Given the description of an element on the screen output the (x, y) to click on. 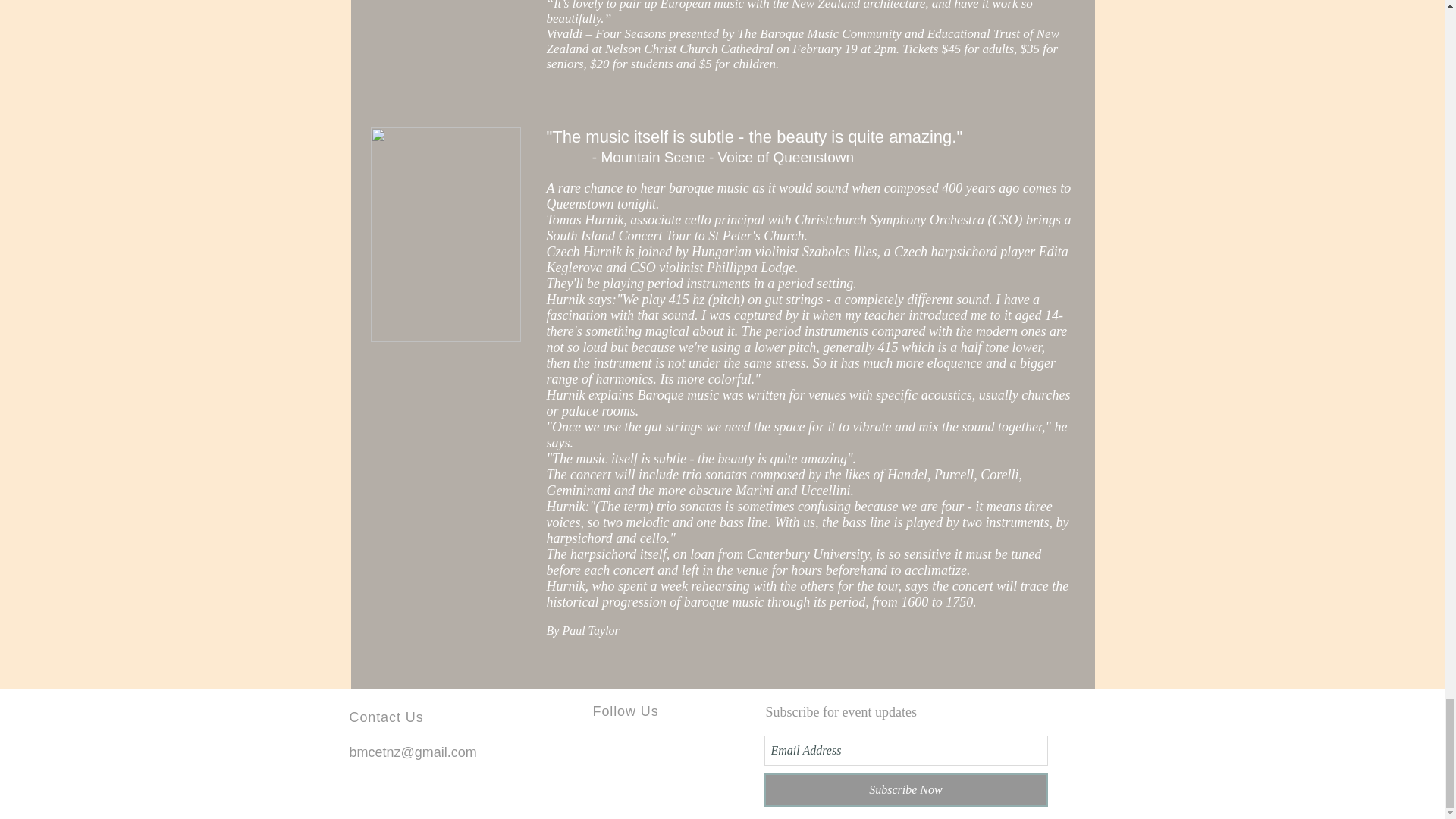
Contact Us (386, 717)
Subscribe Now (906, 789)
